Given the description of an element on the screen output the (x, y) to click on. 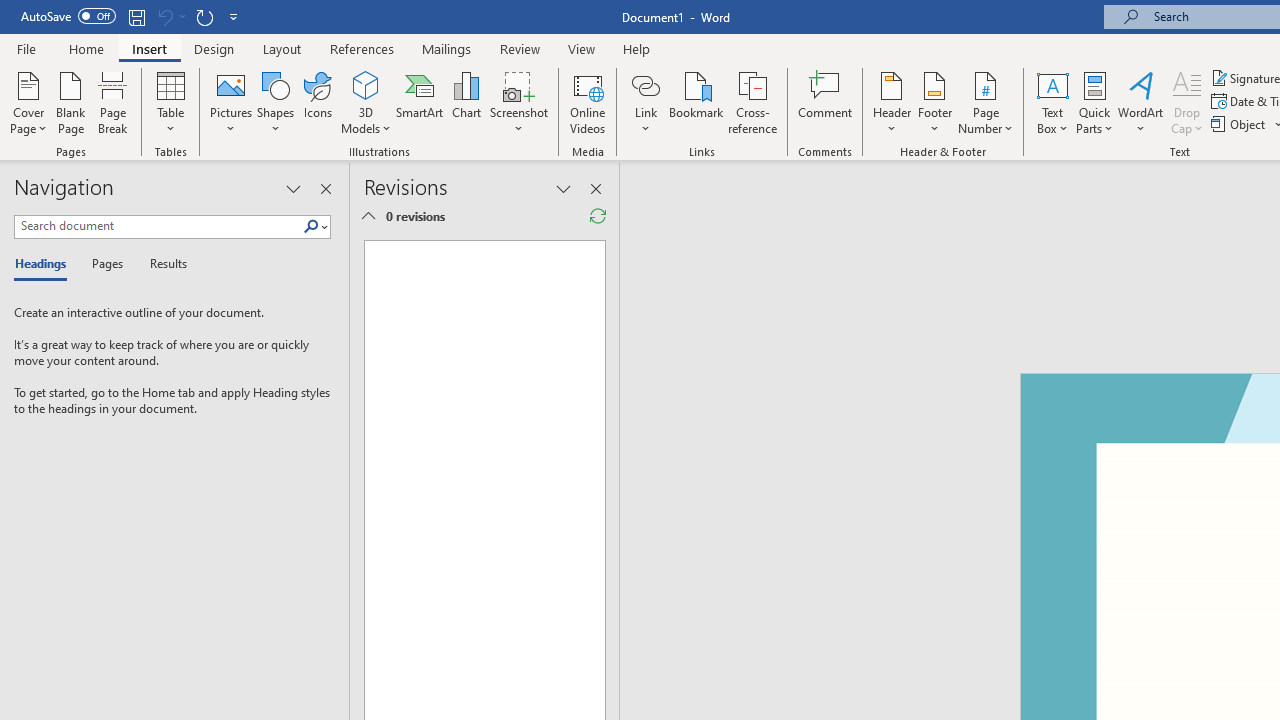
Table (170, 102)
Header (891, 102)
Icons (317, 102)
Footer (934, 102)
SmartArt... (419, 102)
Chart... (466, 102)
Cover Page (28, 102)
Refresh Reviewing Pane (597, 215)
